Given the description of an element on the screen output the (x, y) to click on. 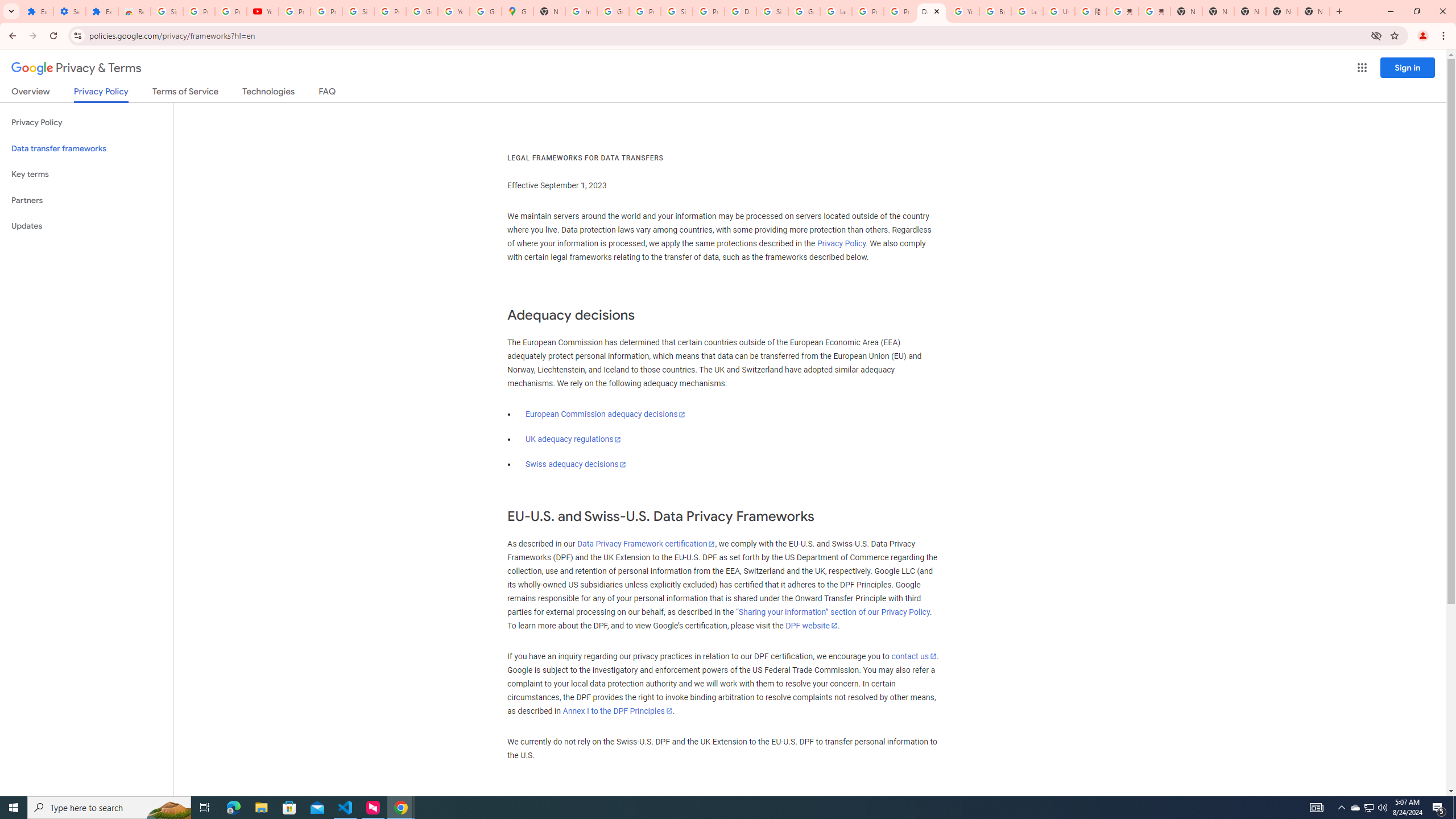
New Tab (1313, 11)
UK adequacy regulations (573, 439)
Partners (86, 199)
Sign in - Google Accounts (676, 11)
